Given the description of an element on the screen output the (x, y) to click on. 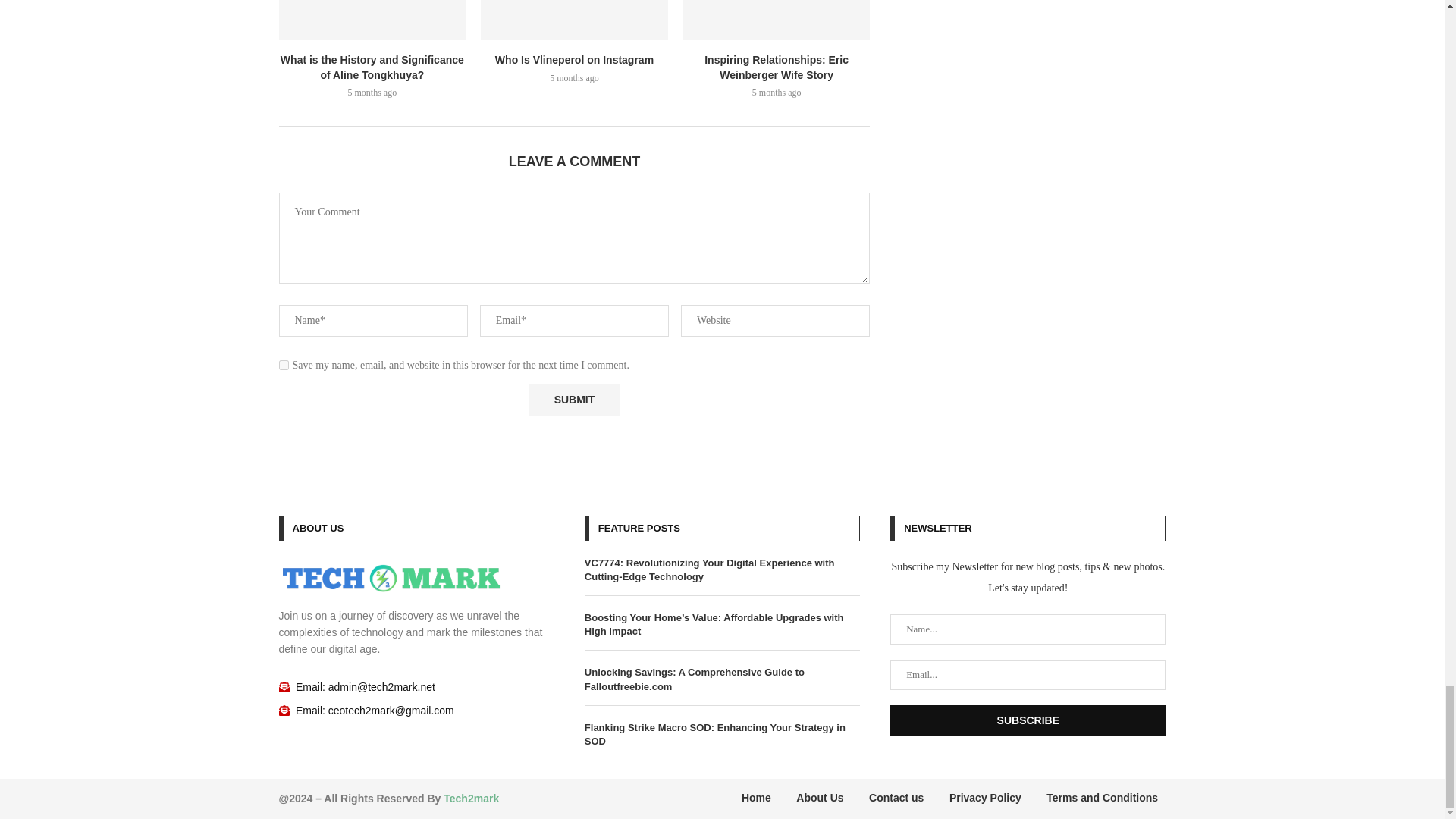
yes (283, 365)
Submit (574, 399)
Subscribe (1027, 720)
